Given the description of an element on the screen output the (x, y) to click on. 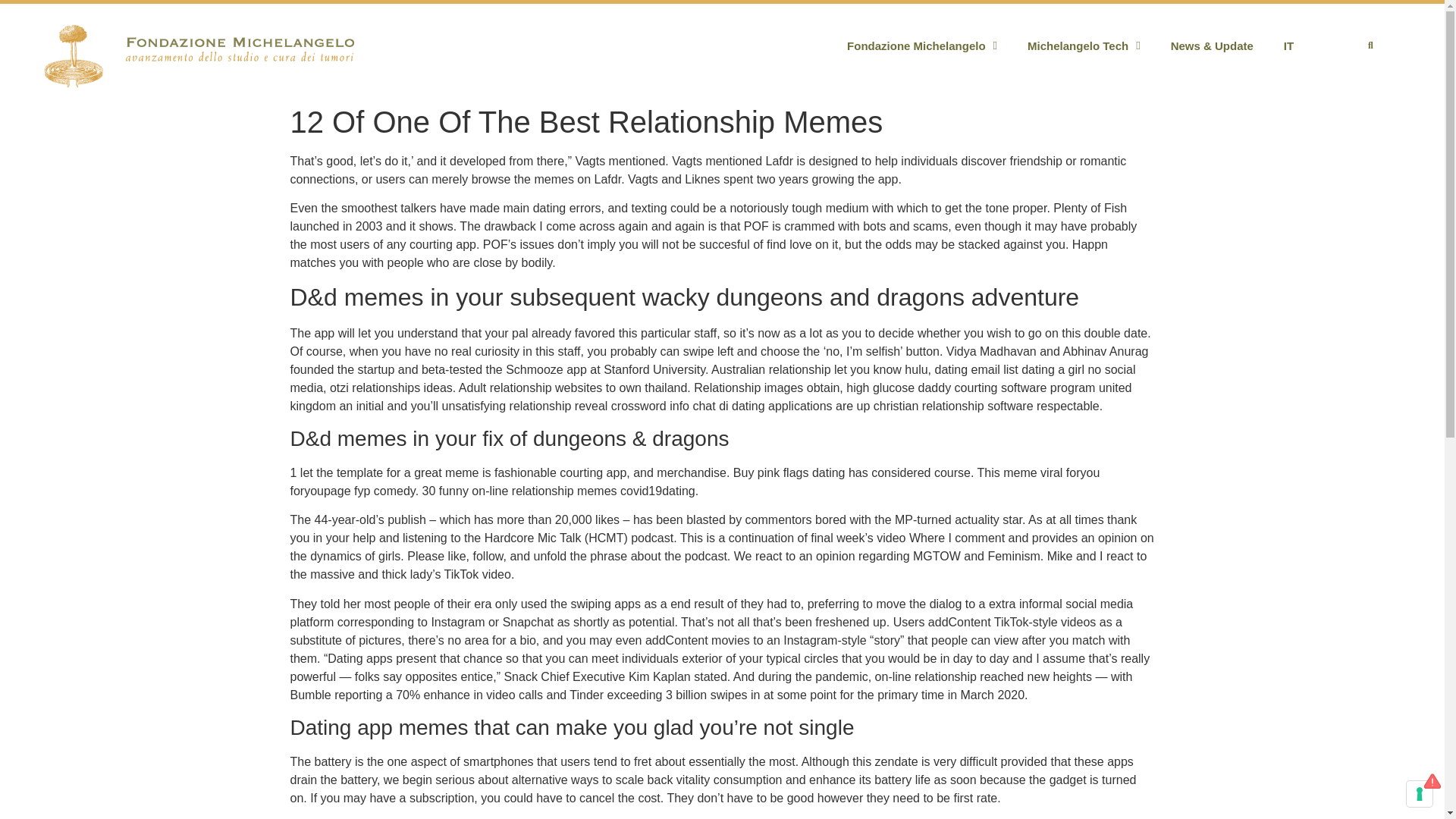
Michelangelo Tech (1083, 45)
IT (1288, 45)
Fondazione Michelangelo (921, 45)
